Given the description of an element on the screen output the (x, y) to click on. 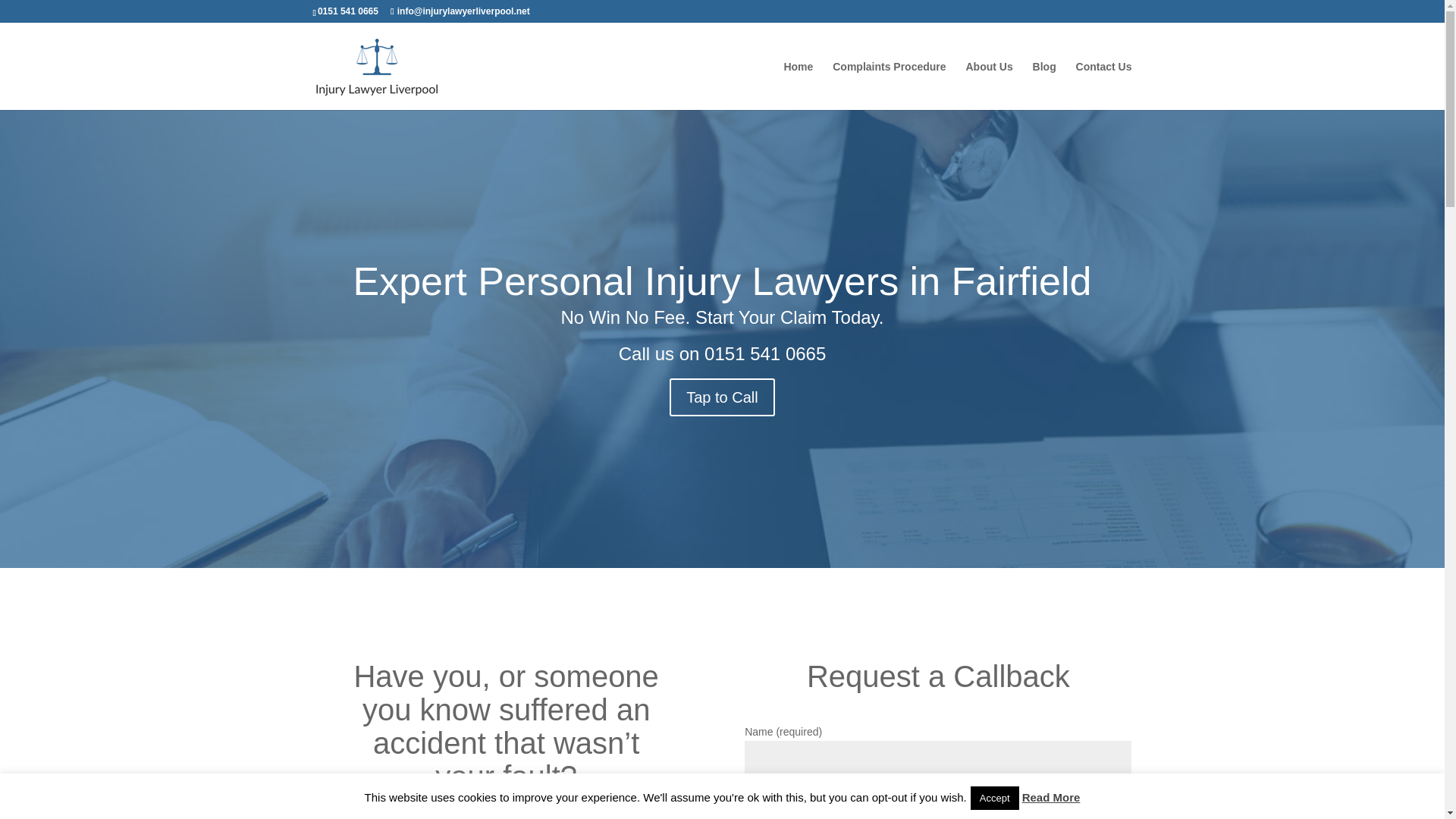
Complaints Procedure (888, 85)
Read More (1051, 797)
0151 541 0665 (764, 353)
Accept (995, 797)
Tap to Call (721, 397)
Contact Us (1103, 85)
About Us (988, 85)
